Given the description of an element on the screen output the (x, y) to click on. 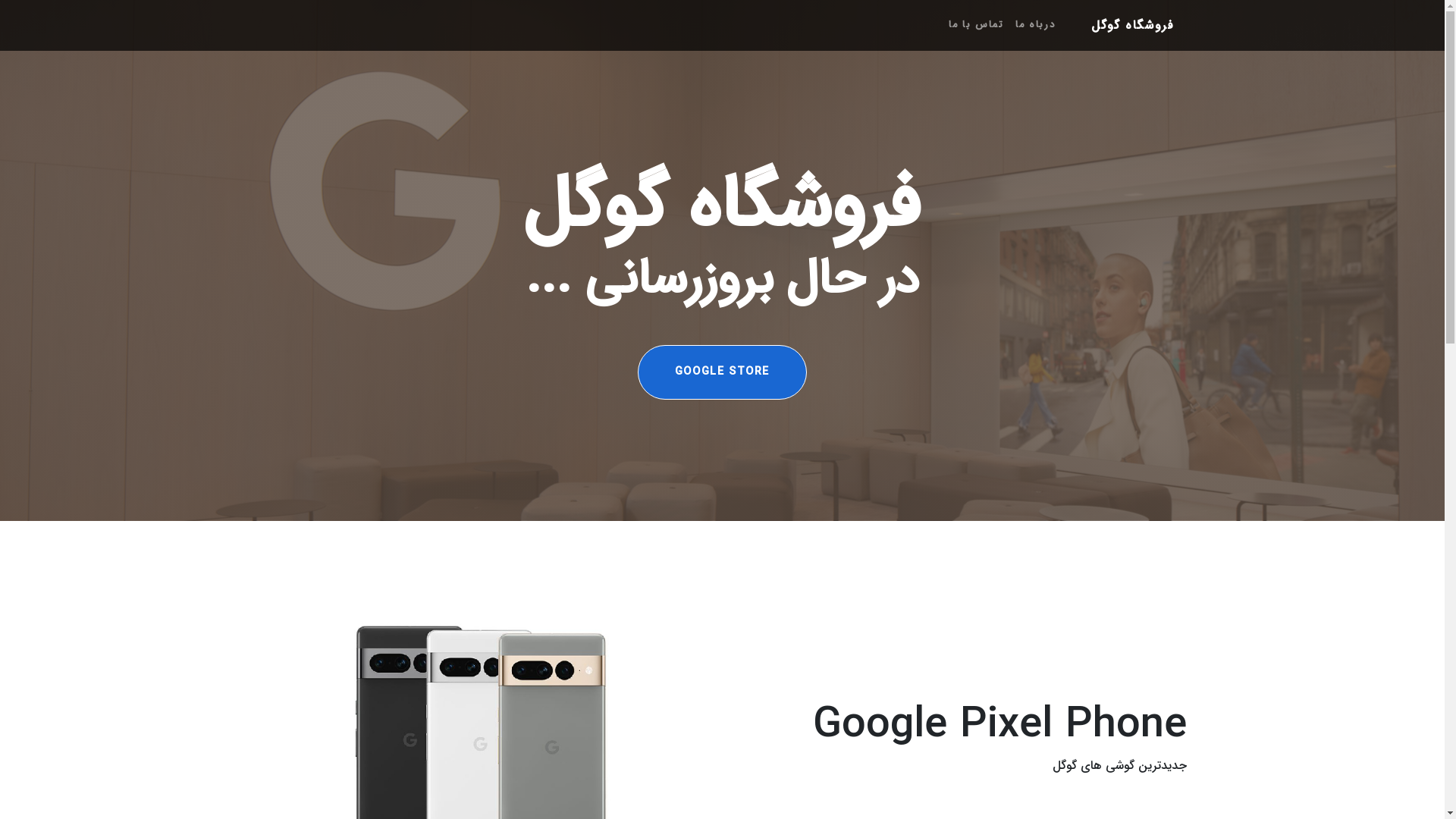
GOOGLE STORE Element type: text (721, 372)
